Given the description of an element on the screen output the (x, y) to click on. 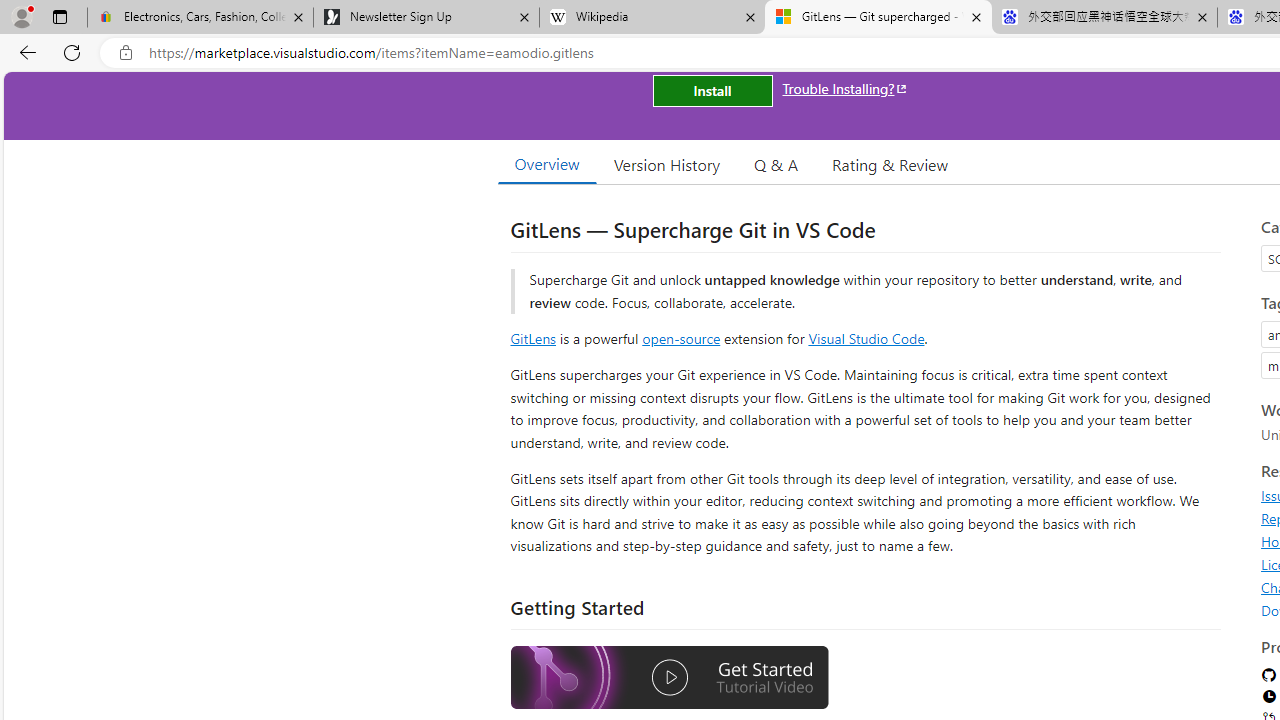
Electronics, Cars, Fashion, Collectibles & More | eBay (200, 17)
Wikipedia (652, 17)
Version History (667, 164)
Q & A (776, 164)
Watch the GitLens Getting Started video (669, 679)
open-source (681, 337)
Newsletter Sign Up (425, 17)
Visual Studio Code (866, 337)
Watch the GitLens Getting Started video (669, 678)
